Given the description of an element on the screen output the (x, y) to click on. 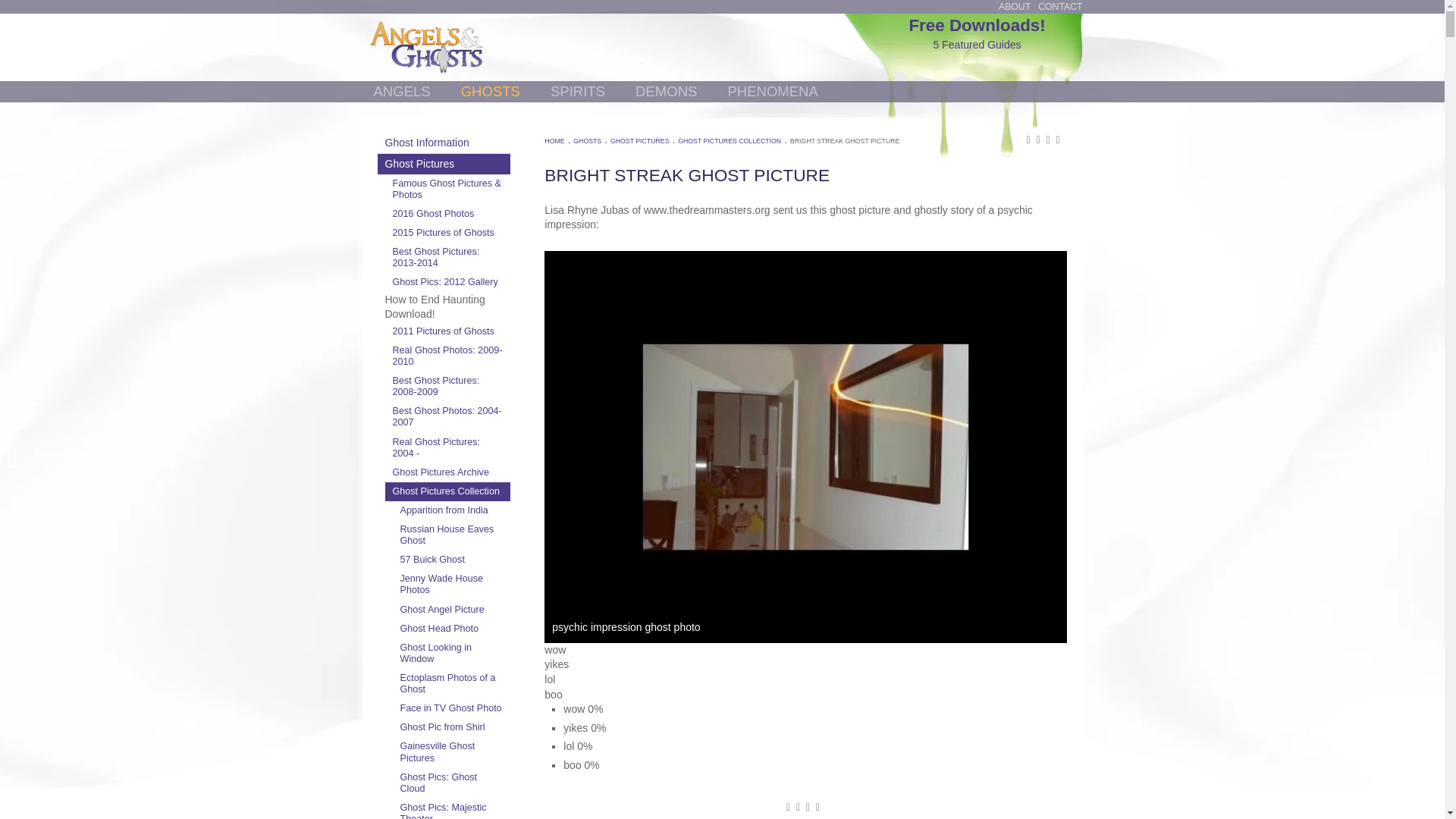
DEMONS (665, 91)
Ghost Looking in Window (452, 653)
Real Ghost Photos: 2009-2010 (448, 356)
Ghost Angel Picture (452, 609)
Real Ghost Pictures: 2004 - (448, 447)
Face in TV Ghost Photo (452, 708)
Best Ghost Photos: 2004-2007 (448, 417)
Ghost Information (444, 142)
Ectoplasm Photos of a Ghost (452, 684)
Ghost Pics: 2012 Gallery (448, 281)
Russian House Eaves Ghost (452, 535)
Best Ghost Pictures: 2013-2014 (448, 257)
PHENOMENA (772, 91)
Ghost Head Photo (452, 628)
Ghost Pic from Shirl (452, 727)
